Given the description of an element on the screen output the (x, y) to click on. 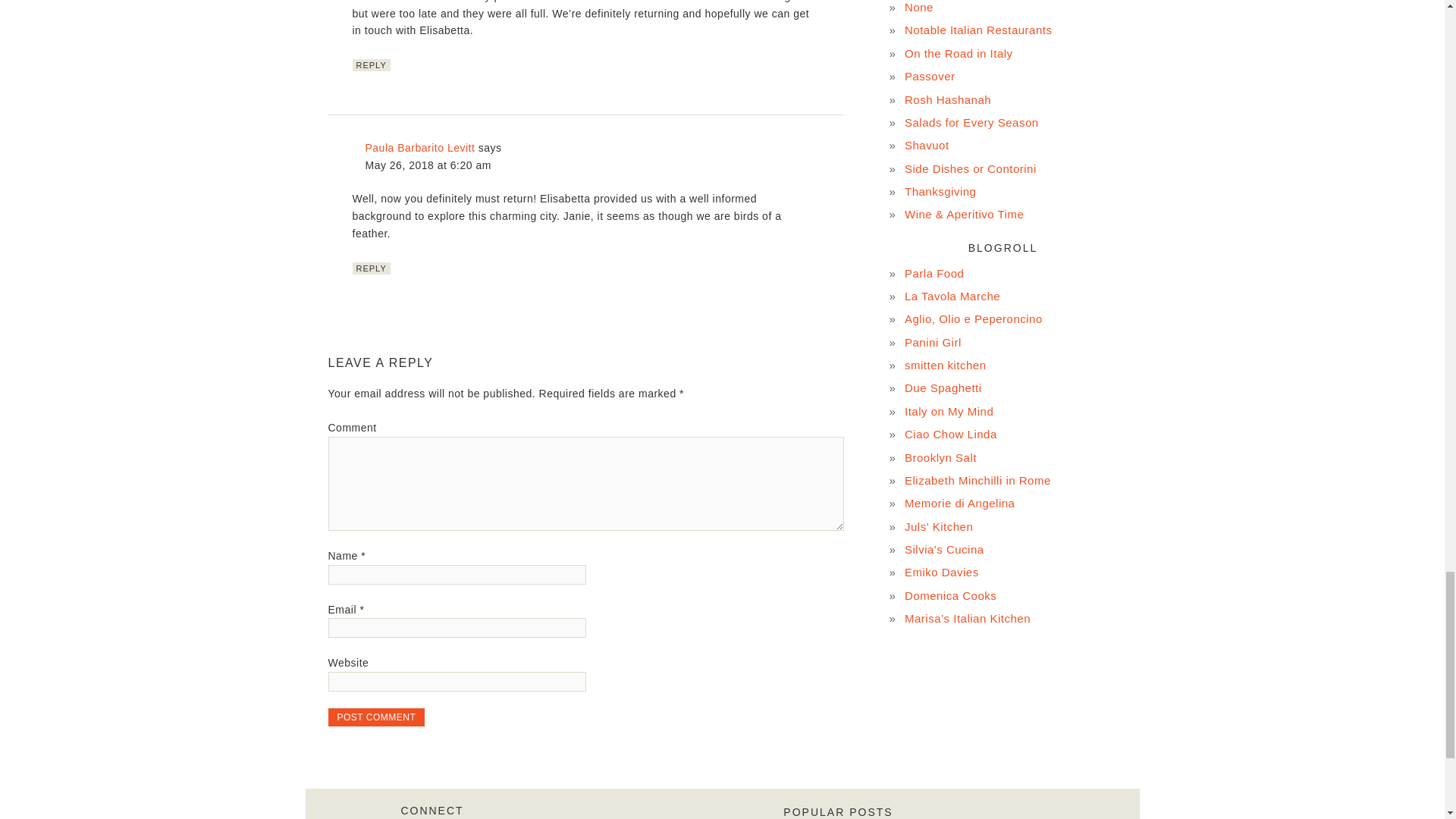
REPLY (371, 64)
May 26, 2018 at 6:20 am (428, 164)
Post Comment (376, 717)
Post Comment (376, 717)
REPLY (371, 268)
Paula Barbarito Levitt (420, 147)
